Given the description of an element on the screen output the (x, y) to click on. 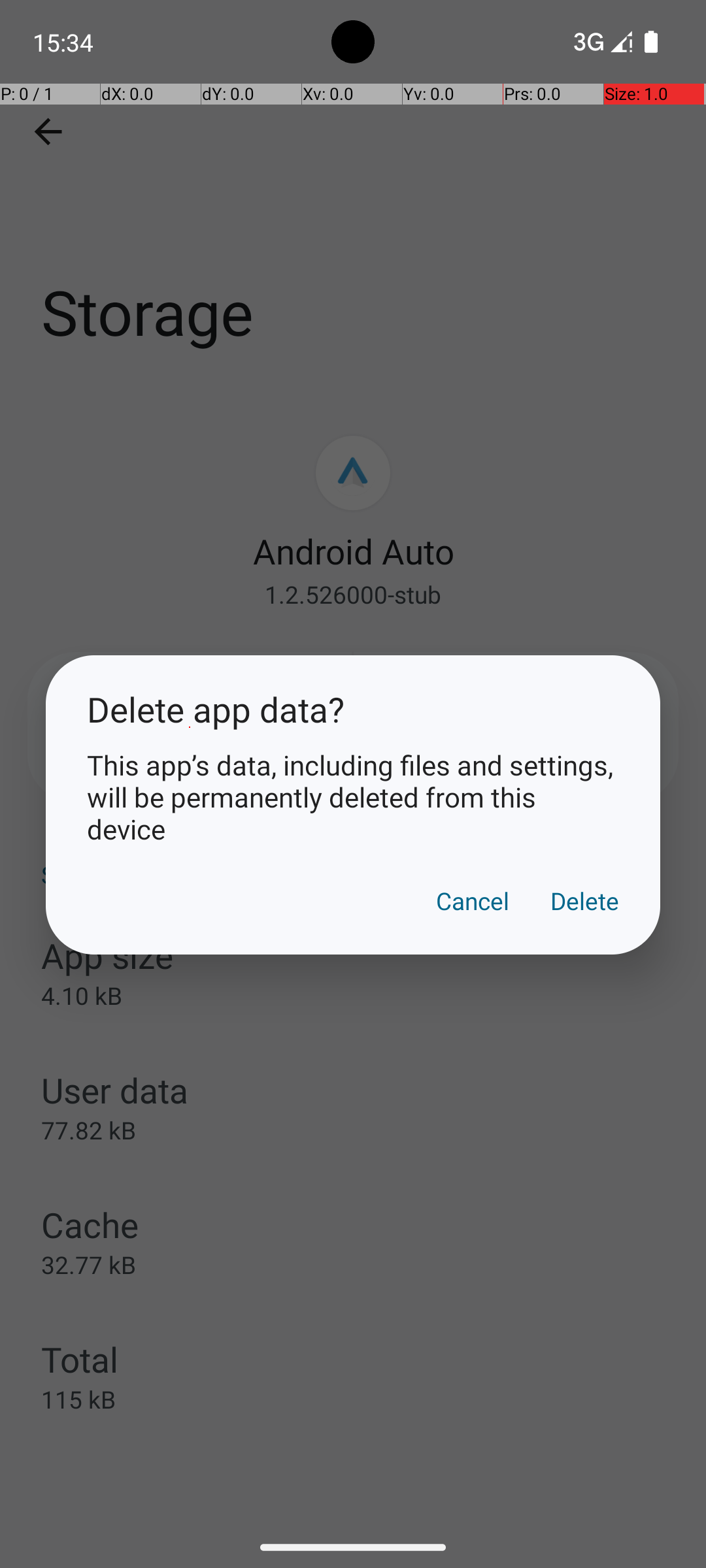
Delete app data? Element type: android.widget.TextView (352, 709)
This app’s data, including files and settings, will be permanently deleted from this device Element type: android.widget.TextView (352, 796)
